Given the description of an element on the screen output the (x, y) to click on. 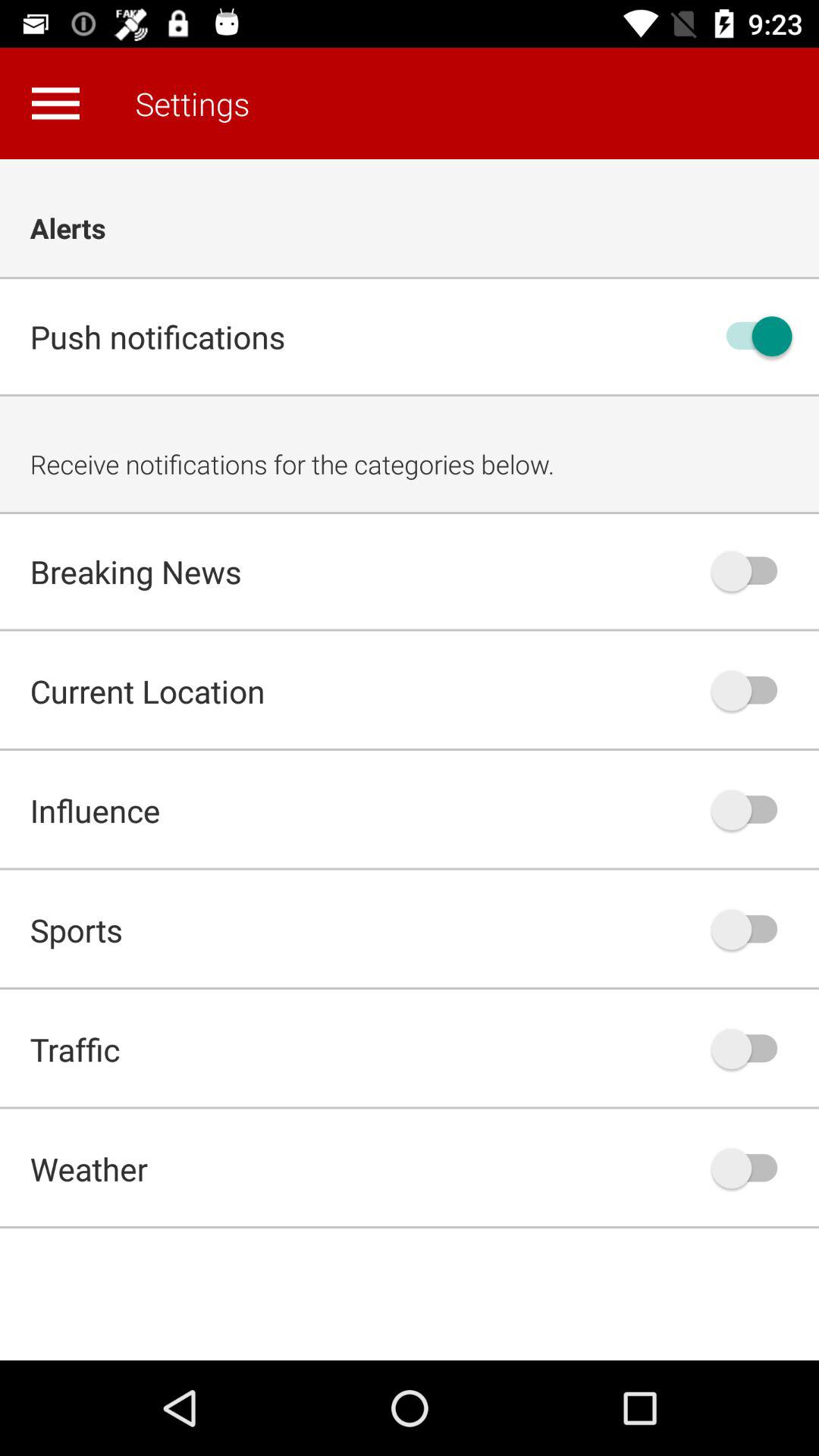
activate traffic alerts (751, 1049)
